Given the description of an element on the screen output the (x, y) to click on. 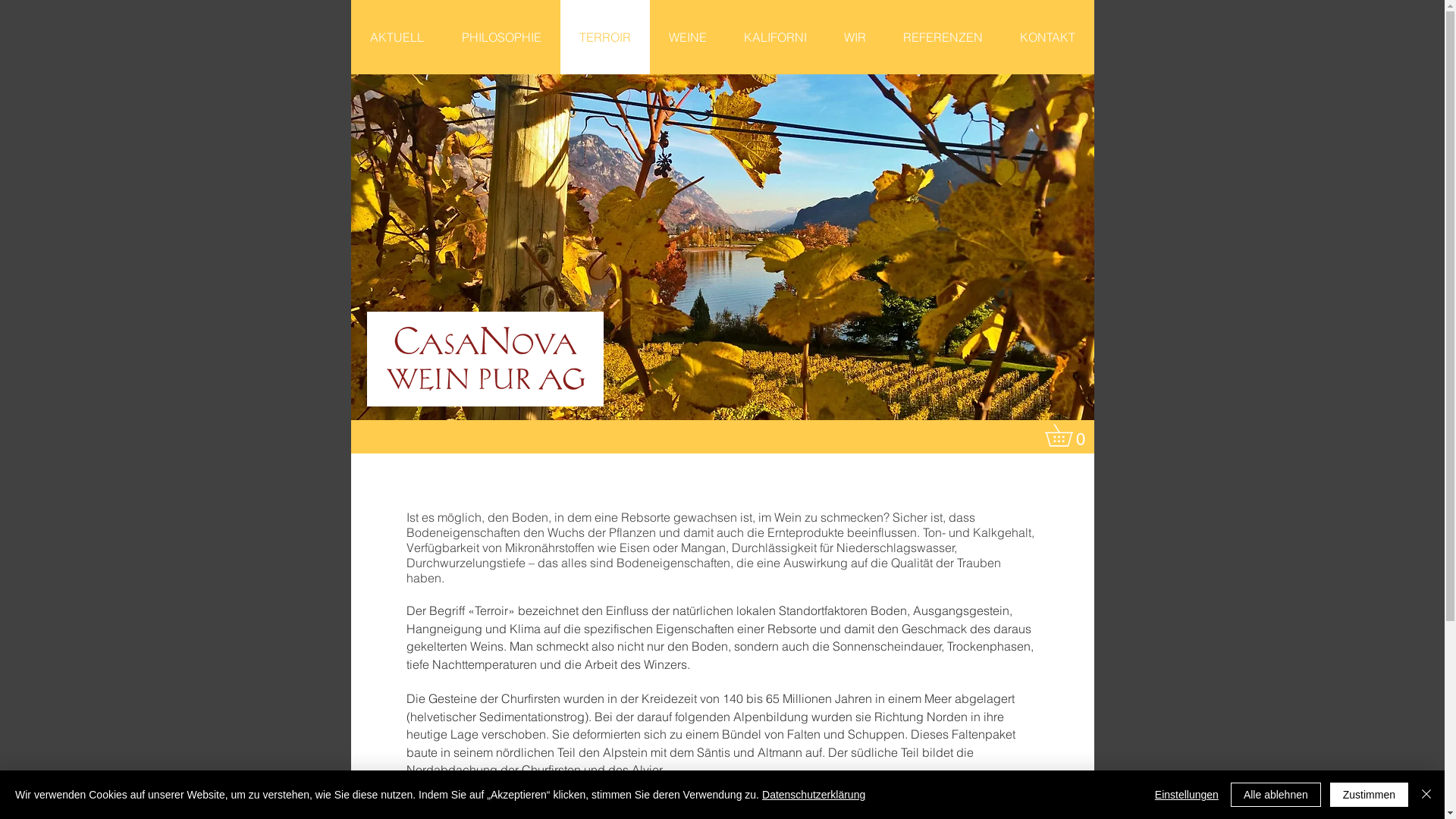
AKTUELL Element type: text (396, 37)
Alle ablehnen Element type: text (1275, 794)
KALIFORNI Element type: text (774, 37)
Zustimmen Element type: text (1369, 794)
WIR Element type: text (854, 37)
TERROIR Element type: text (604, 37)
WEINE Element type: text (686, 37)
KONTAKT Element type: text (1047, 37)
0 Element type: text (1069, 434)
PHILOSOPHIE Element type: text (501, 37)
REFERENZEN Element type: text (942, 37)
